Given the description of an element on the screen output the (x, y) to click on. 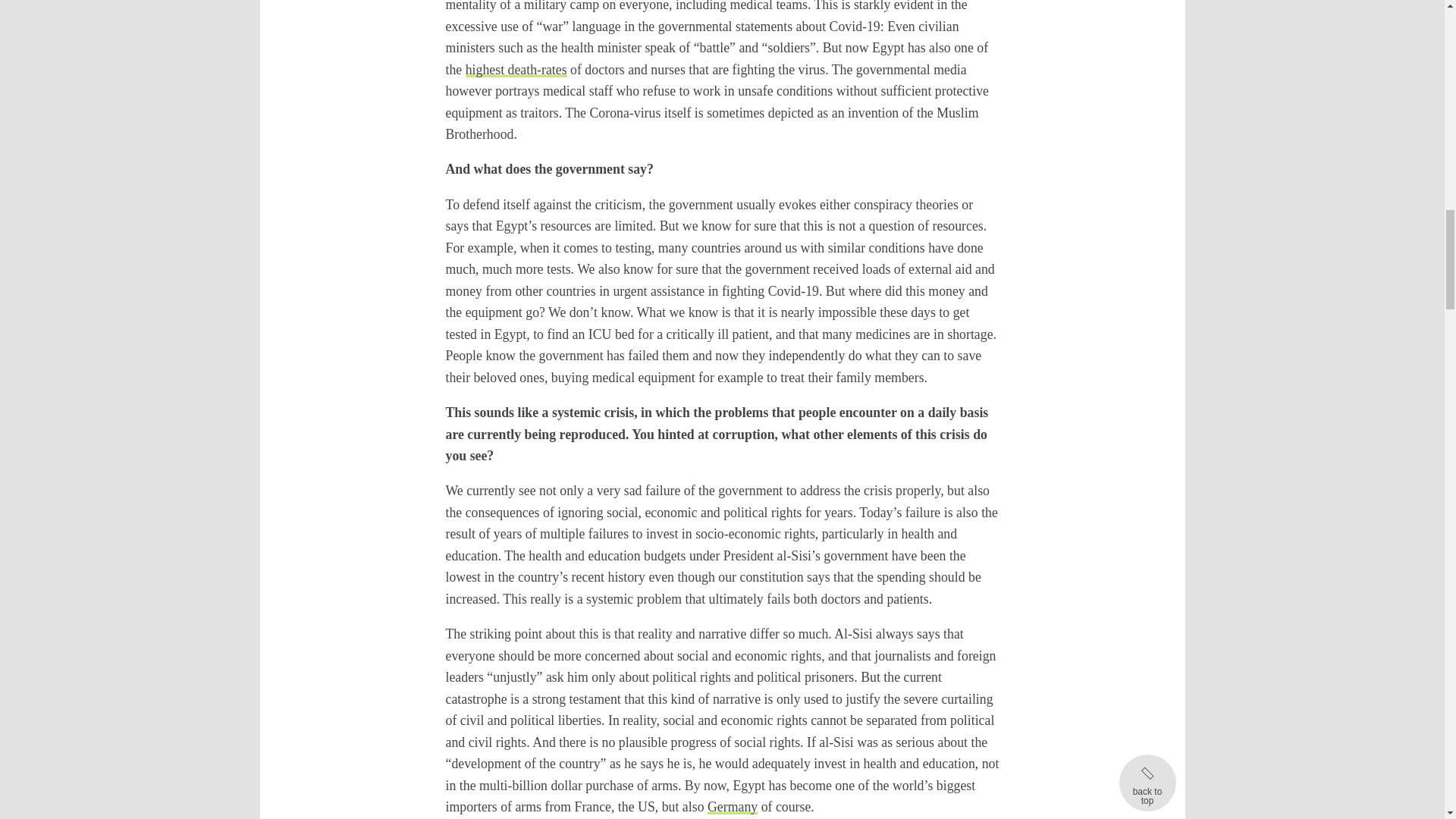
highest death-rates (516, 69)
Germany (732, 806)
